Given the description of an element on the screen output the (x, y) to click on. 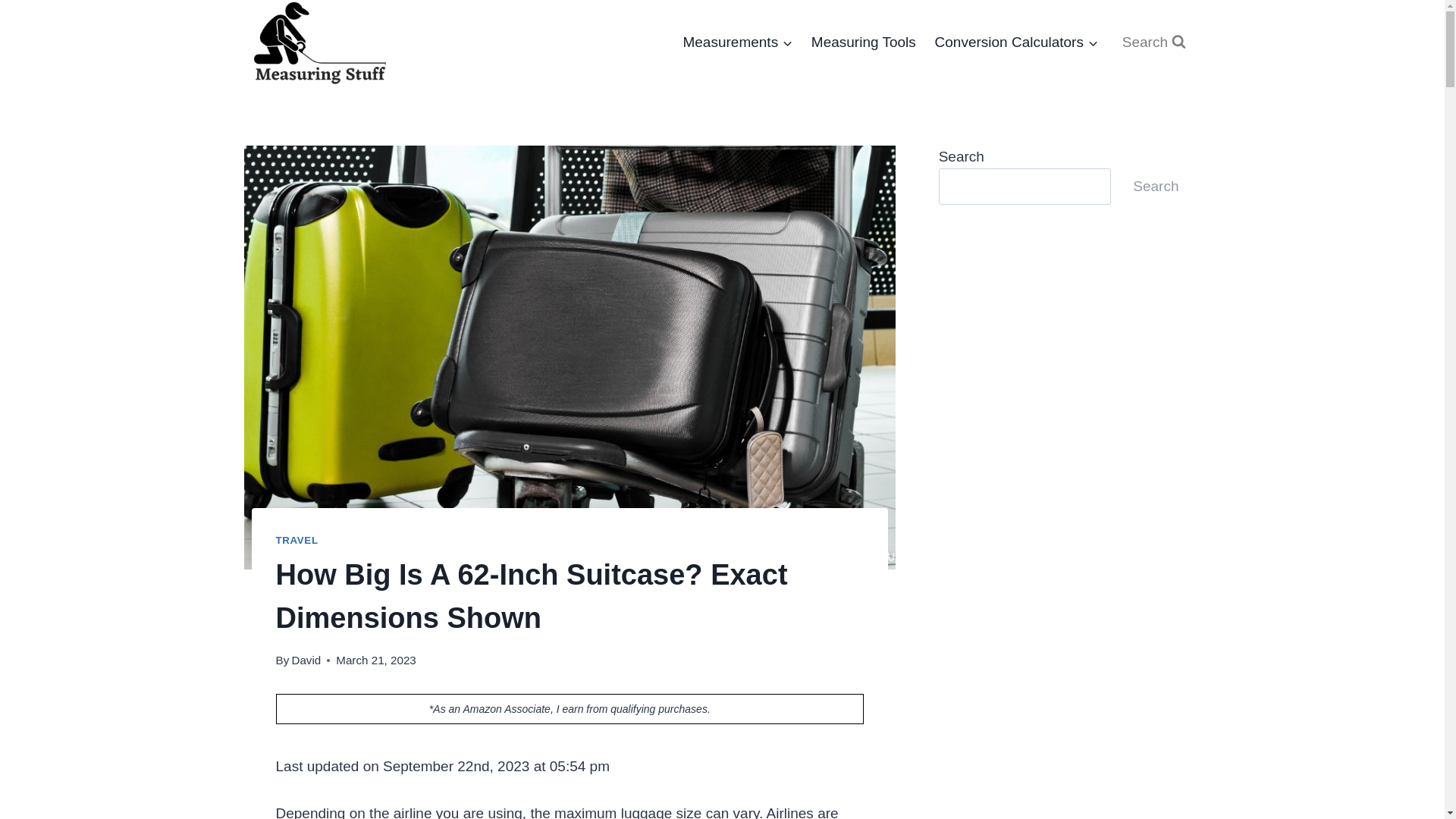
Measuring Tools (863, 42)
TRAVEL (297, 540)
Measurements (737, 42)
Conversion Calculators (1015, 42)
Search (1153, 41)
David (305, 659)
